Given the description of an element on the screen output the (x, y) to click on. 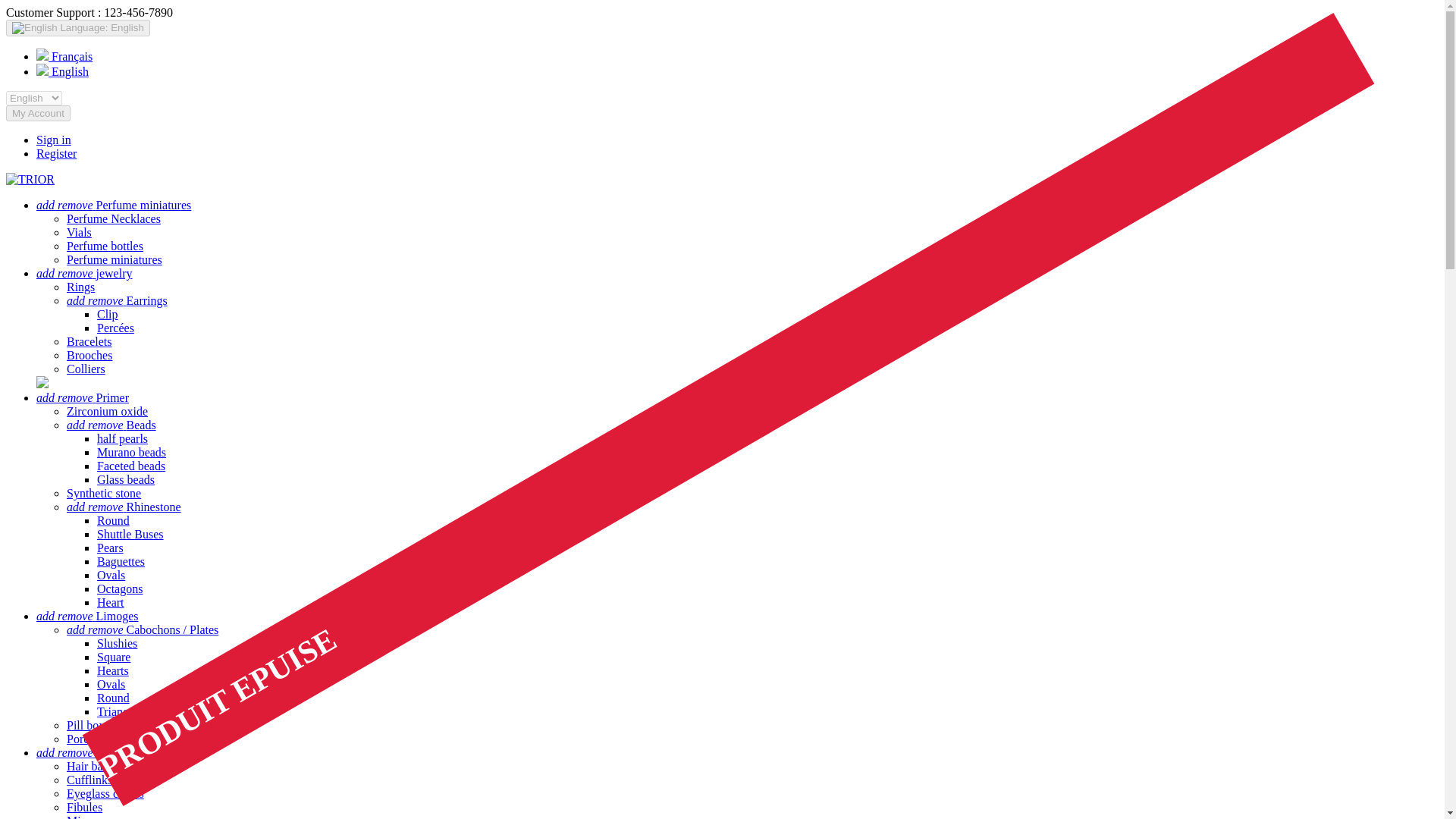
add remove jewelry (84, 273)
Zirconium oxide (107, 410)
Perfume Necklaces (113, 218)
Synthetic stone (103, 492)
Perfume miniatures (113, 259)
Round (113, 520)
Register (56, 153)
Rings (80, 286)
English (62, 71)
Perfume bottles (104, 245)
